Given the description of an element on the screen output the (x, y) to click on. 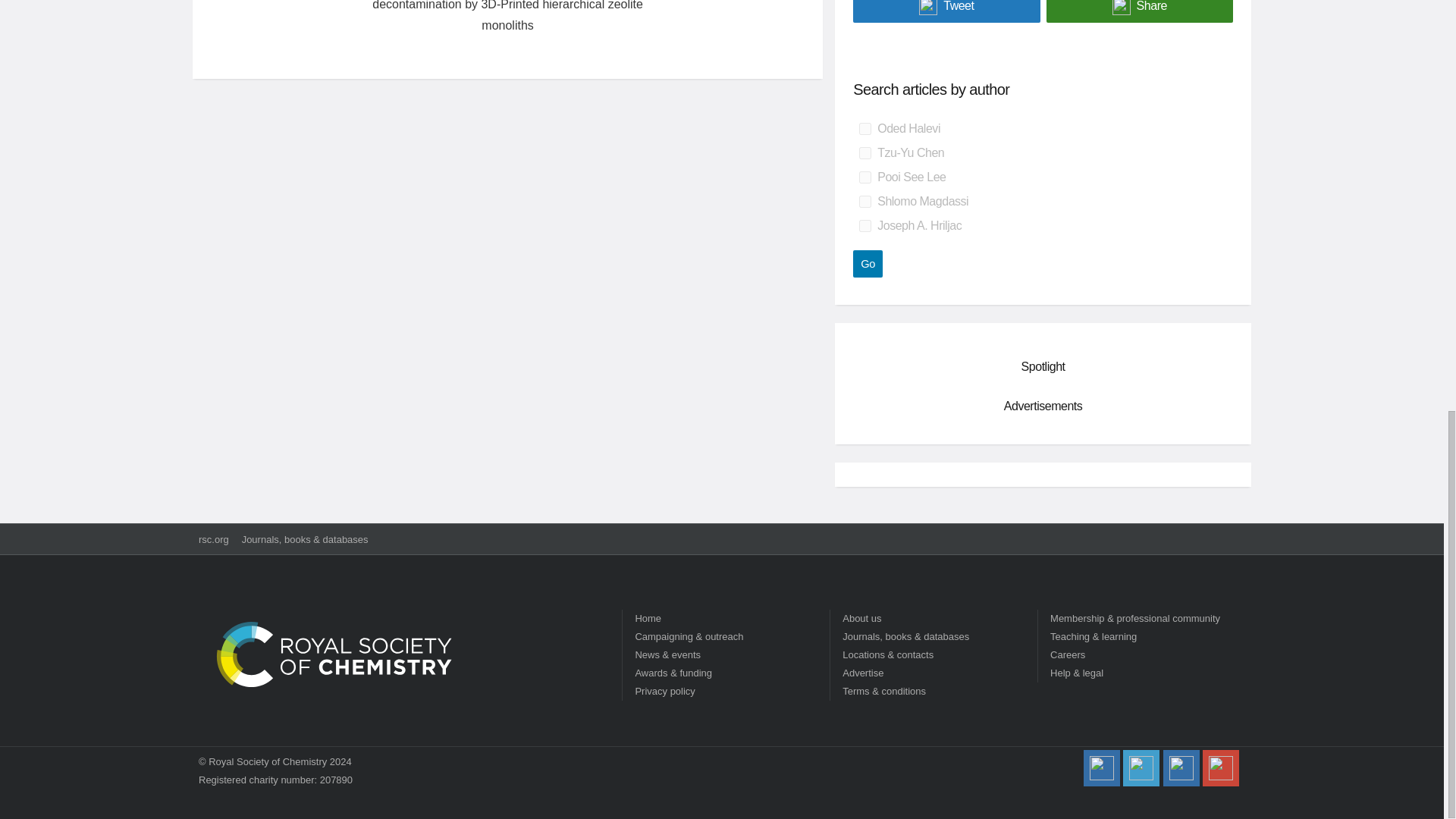
on (864, 201)
Go (867, 263)
Go (867, 263)
on (864, 225)
on (864, 177)
on (864, 128)
on (864, 152)
